Given the description of an element on the screen output the (x, y) to click on. 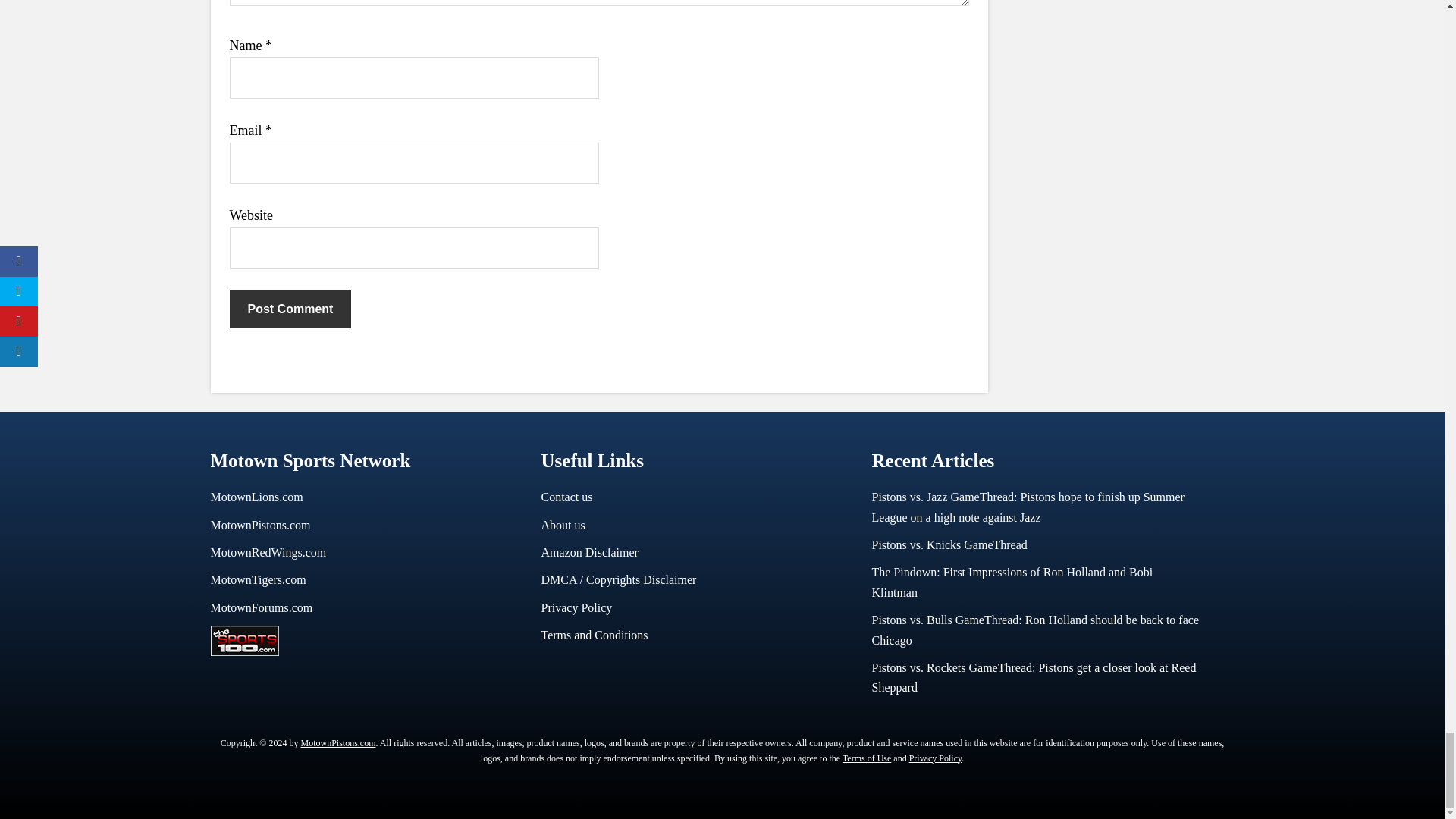
Post Comment (289, 309)
